Given the description of an element on the screen output the (x, y) to click on. 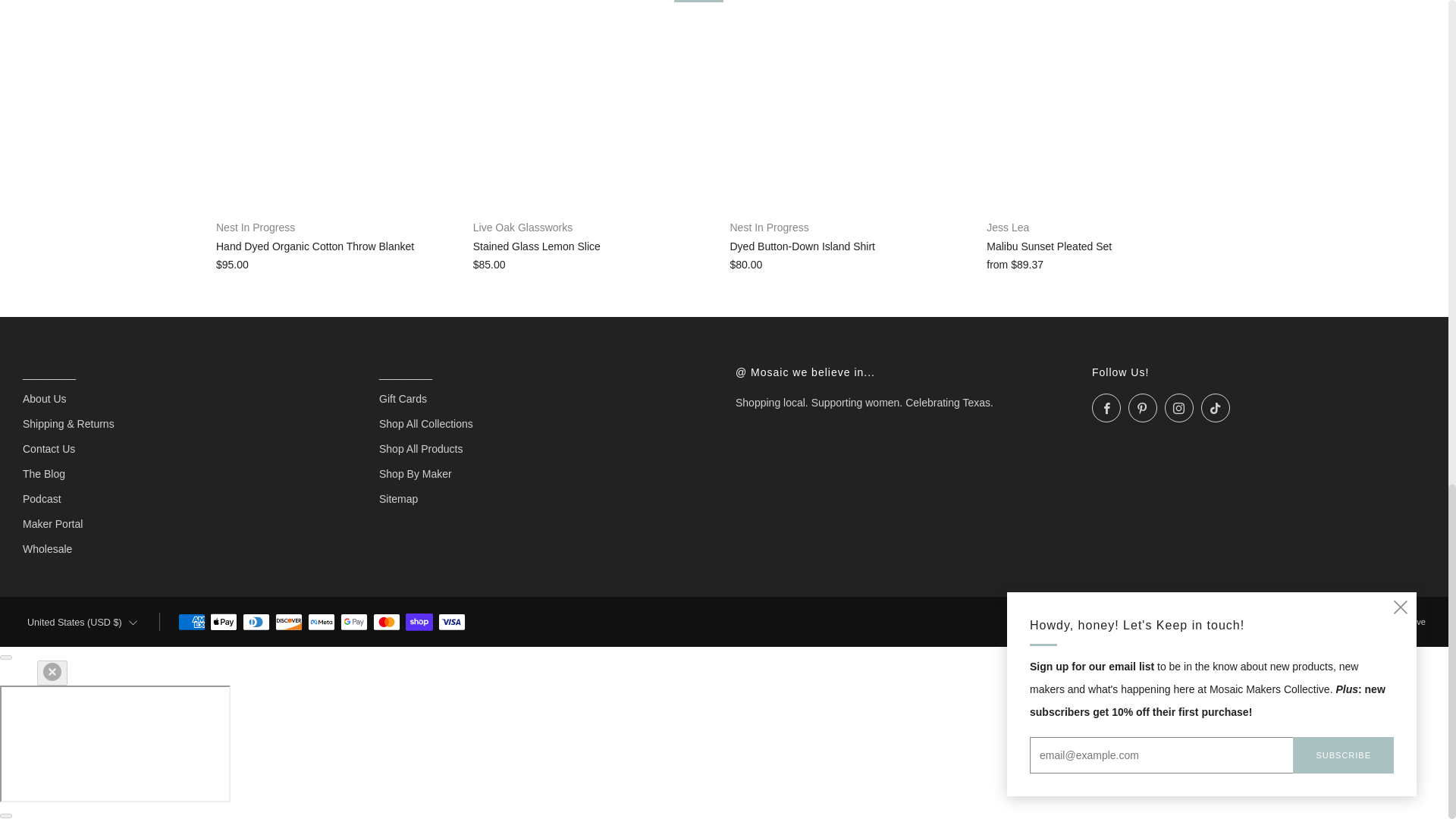
Hand Dyed Organic Cotton Throw Blanket (338, 236)
Hand Dyed Organic Cotton Throw Blanket (338, 264)
Stained Glass Lemon Slice (596, 264)
Stained Glass Lemon Slice (596, 236)
